Given the description of an element on the screen output the (x, y) to click on. 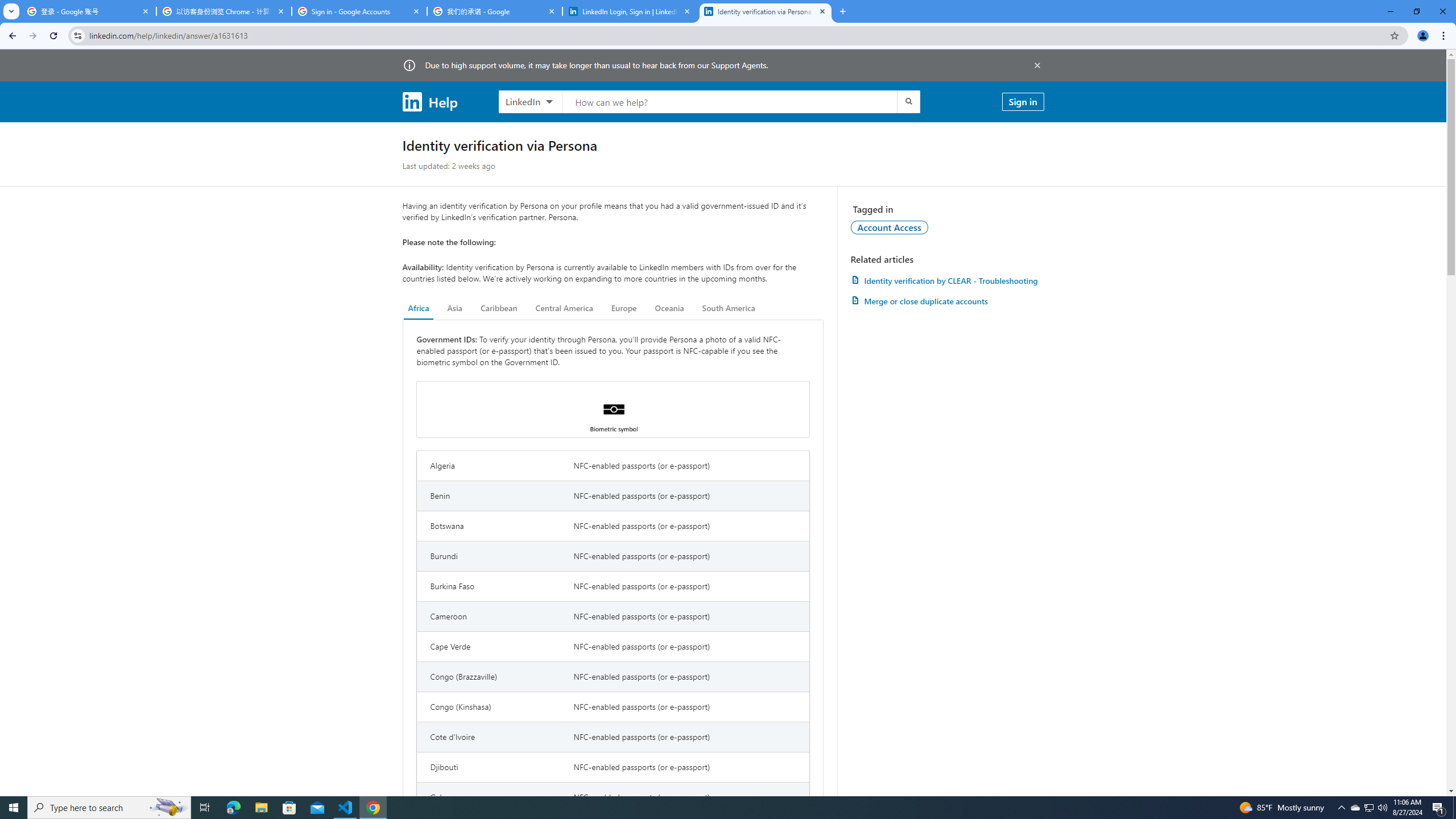
Identity verification by CLEAR - Troubleshooting (946, 280)
Biometric symbol (612, 409)
Submit search (908, 101)
Central America (563, 308)
Identity verification via Persona | LinkedIn Help (765, 11)
Merge or close duplicate accounts (946, 300)
Oceania (668, 308)
